Given the description of an element on the screen output the (x, y) to click on. 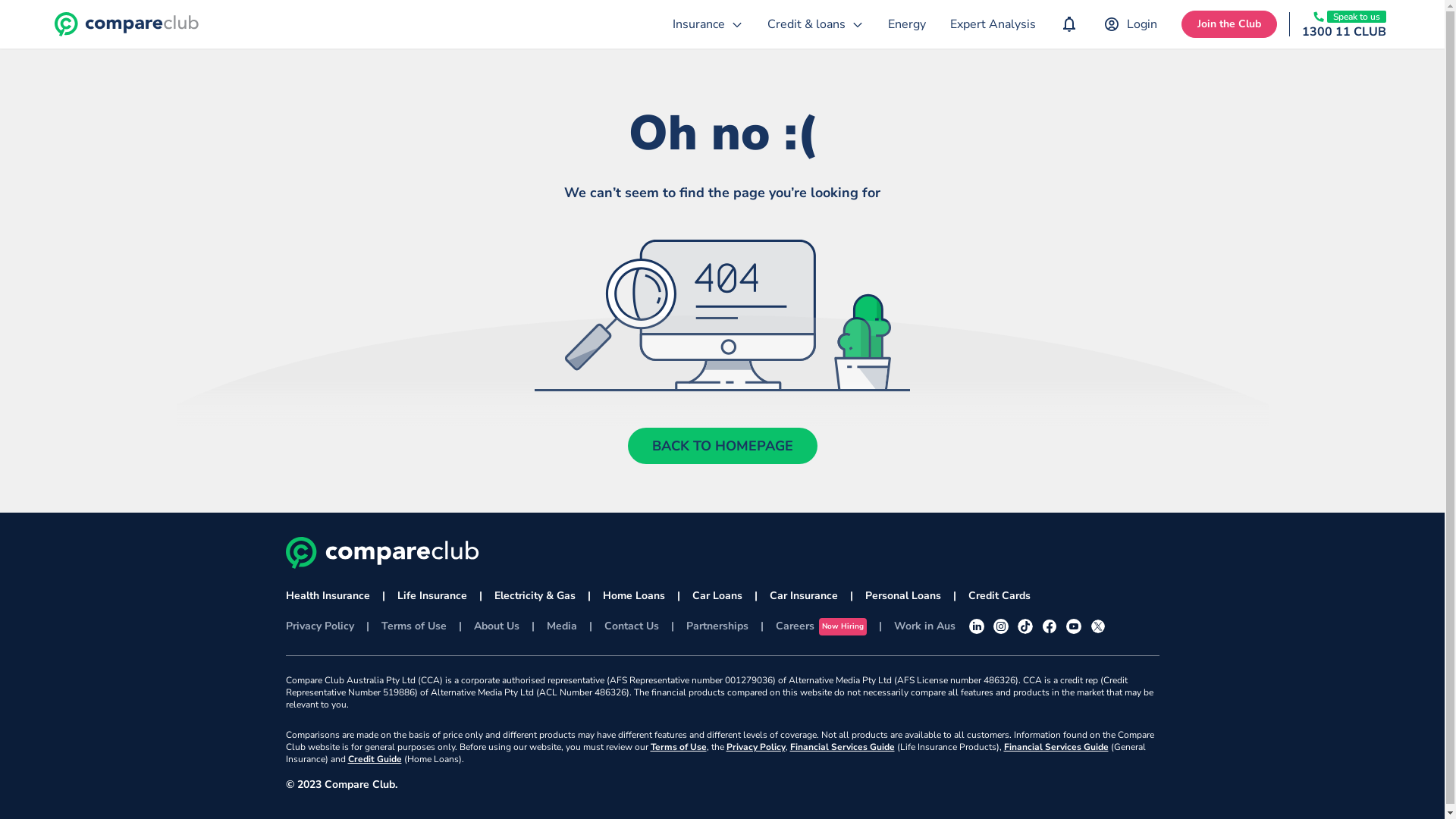
Credit Cards Element type: text (998, 595)
Health Insurance Element type: text (327, 595)
Credit Guide Element type: text (374, 759)
Home Loans Element type: text (633, 595)
Login Element type: text (1129, 24)
Financial Services Guide Element type: text (1056, 746)
Electricity & Gas Element type: text (534, 595)
Insurance Element type: text (707, 24)
Media Element type: text (561, 626)
About Us Element type: text (495, 626)
Terms of Use Element type: text (412, 626)
Careers Element type: text (794, 626)
Privacy Policy Element type: text (755, 746)
Join the Club Element type: text (1229, 24)
Expert Analysis Element type: text (993, 24)
Financial Services Guide Element type: text (842, 746)
Privacy Policy Element type: text (319, 626)
Contact Us Element type: text (630, 626)
Join the Club Element type: text (1229, 23)
Personal Loans Element type: text (902, 595)
Partnerships Element type: text (716, 626)
Energy Element type: text (906, 24)
BACK TO HOMEPAGE Element type: text (722, 445)
Car Insurance Element type: text (802, 595)
Speak to us
1300 11 CLUB Element type: text (1344, 24)
Car Loans Element type: text (716, 595)
Terms of Use Element type: text (678, 746)
Credit & loans Element type: text (815, 24)
Life Insurance Element type: text (432, 595)
Work in Aus Element type: text (924, 626)
